Given the description of an element on the screen output the (x, y) to click on. 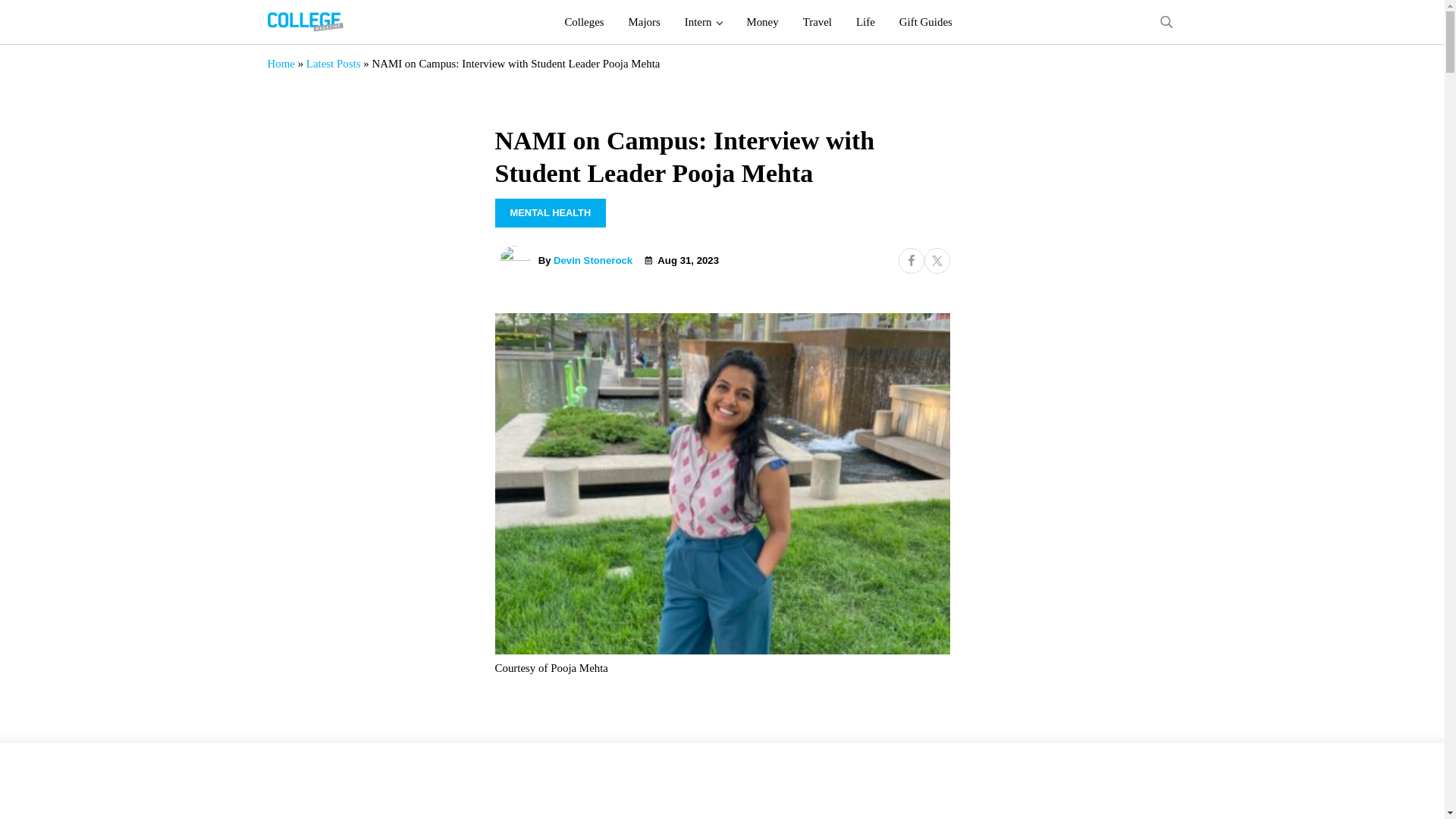
Money (761, 21)
Share on Twitter (936, 260)
Travel (817, 21)
Share on Facebook (910, 260)
Life (865, 21)
Home (280, 63)
Intern (703, 21)
Latest Posts (333, 63)
Majors (643, 21)
